Given the description of an element on the screen output the (x, y) to click on. 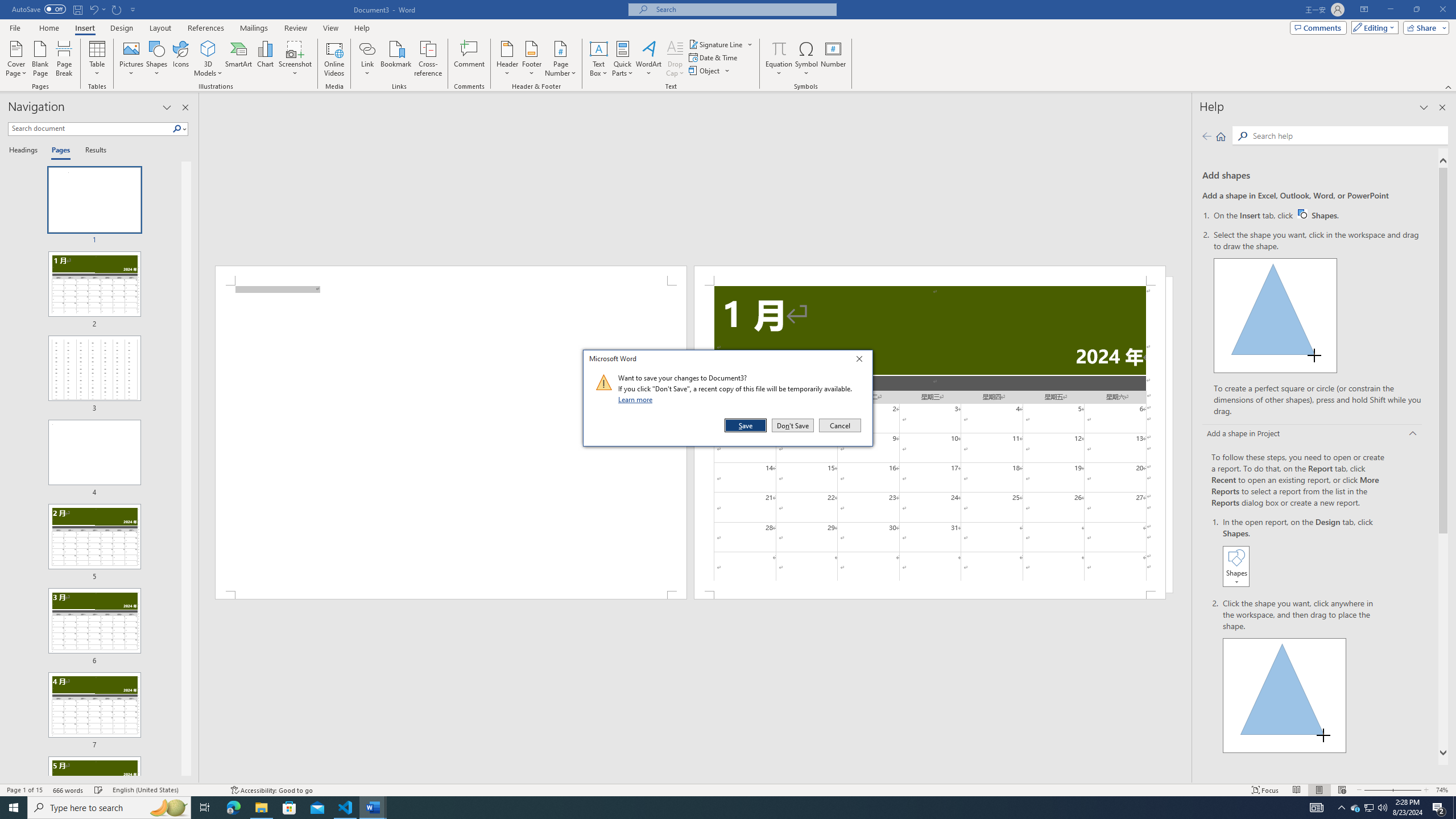
Visual Studio Code - 1 running window (345, 807)
Table (97, 58)
Symbol (806, 58)
Text Box (598, 58)
Accessibility Checker Accessibility: Good to go (271, 790)
Page Number (560, 58)
Blank Page (40, 58)
AutomationID: 4105 (1316, 807)
File Explorer - 1 running window (261, 807)
Action Center, 2 new notifications (1439, 807)
Start (13, 807)
